Given the description of an element on the screen output the (x, y) to click on. 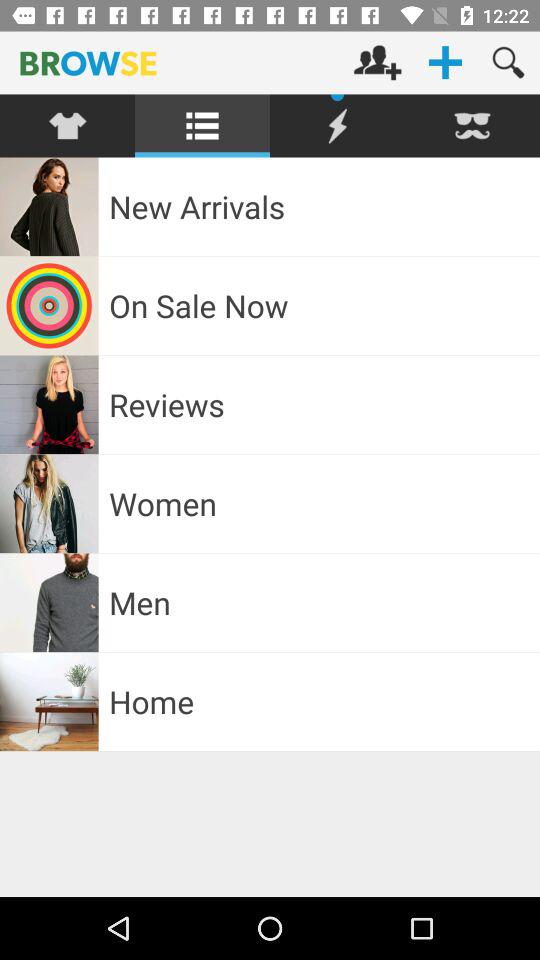
wanelo shopping (337, 125)
